Given the description of an element on the screen output the (x, y) to click on. 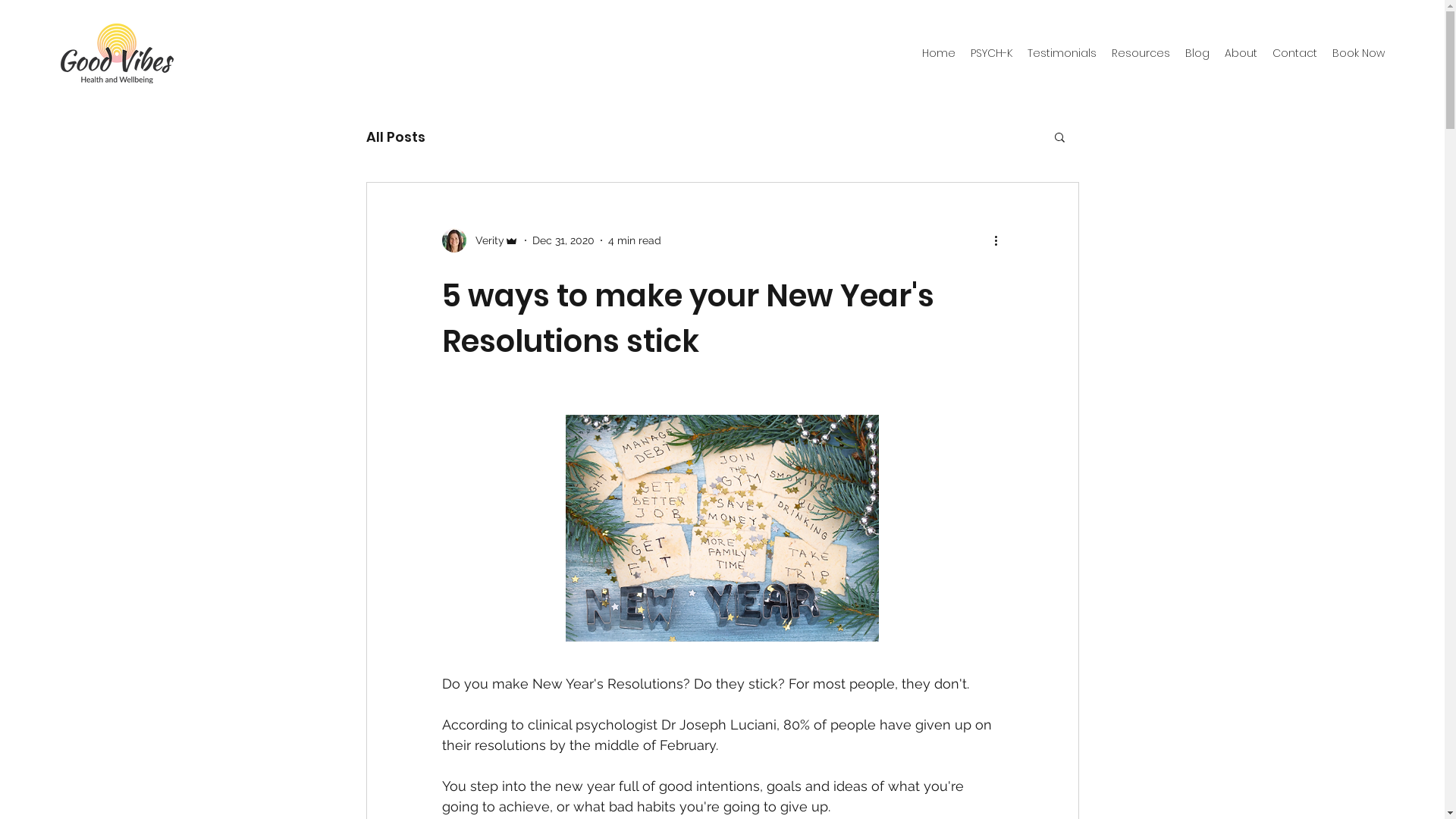
Resources Element type: text (1140, 53)
Home Element type: text (938, 53)
All Posts Element type: text (394, 135)
PSYCH-K Element type: text (991, 53)
About Element type: text (1240, 53)
Book Now Element type: text (1358, 53)
Testimonials Element type: text (1061, 53)
Contact Element type: text (1294, 53)
Verity Element type: text (479, 240)
Blog Element type: text (1197, 53)
